Given the description of an element on the screen output the (x, y) to click on. 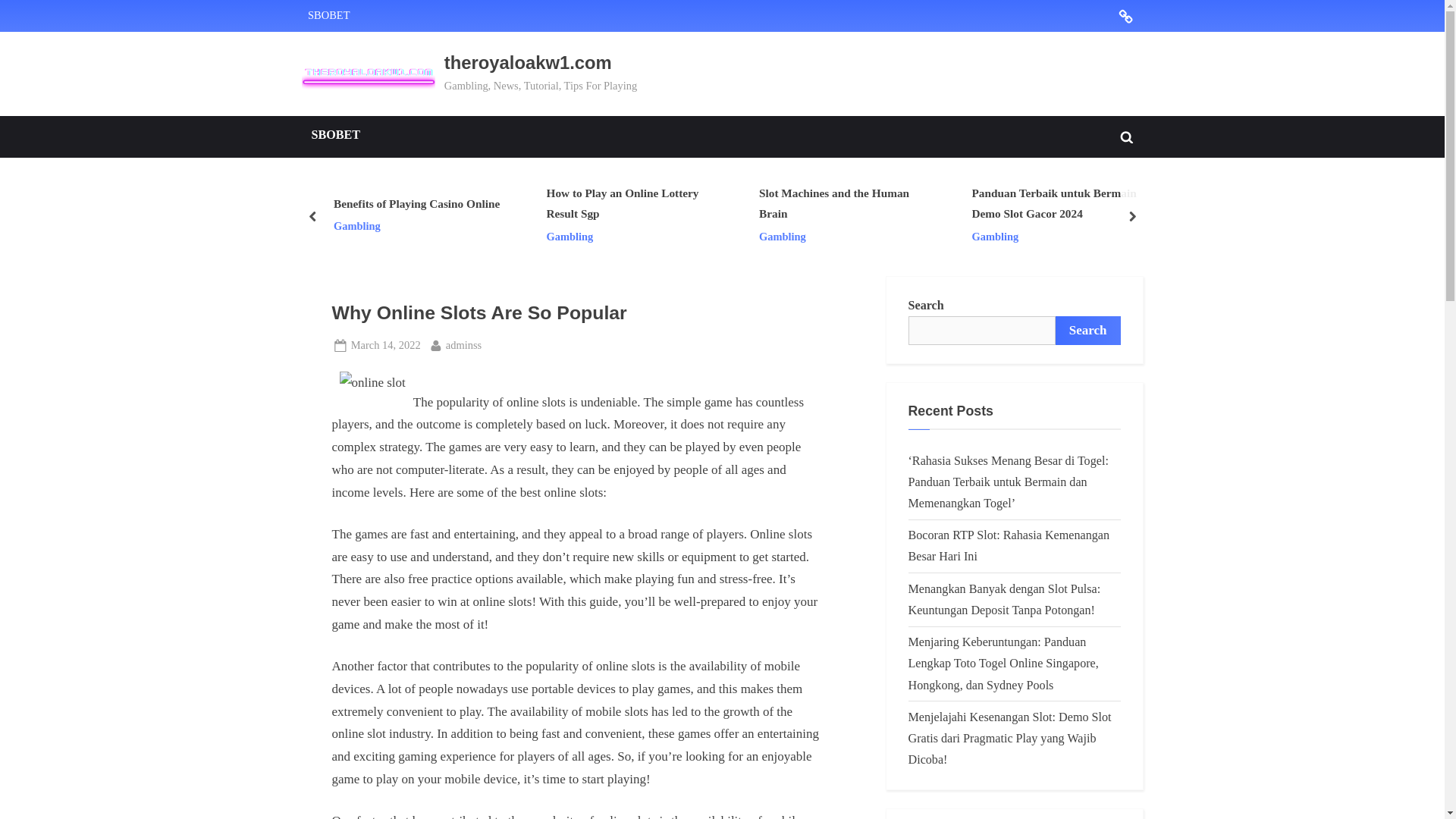
Gambling (416, 226)
Toggle search form (1126, 135)
How to Play an Online Lottery Result Sgp (630, 204)
Gambling (630, 236)
Gambling (842, 236)
Gambling (1055, 236)
Panduan Terbaik untuk Bermain Demo Slot Gacor 2024 (1055, 204)
SBOBET (1125, 14)
Benefits of Playing Casino Online (416, 204)
theroyaloakw1.com (527, 62)
